Given the description of an element on the screen output the (x, y) to click on. 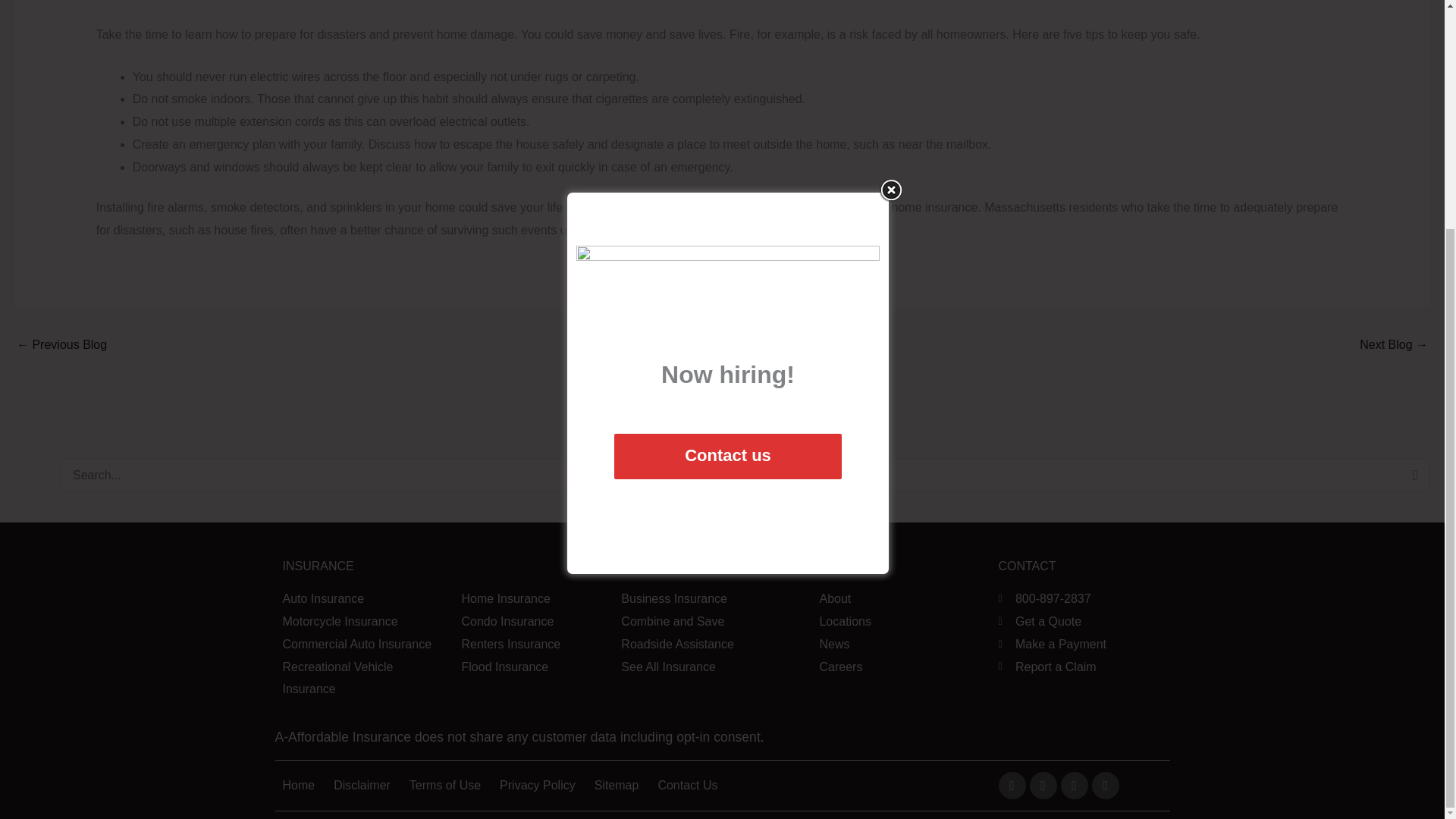
Why You Should Spend Money on Home Insurance (61, 346)
Massachusetts Residents: High Risk for Flooding (1393, 346)
